Given the description of an element on the screen output the (x, y) to click on. 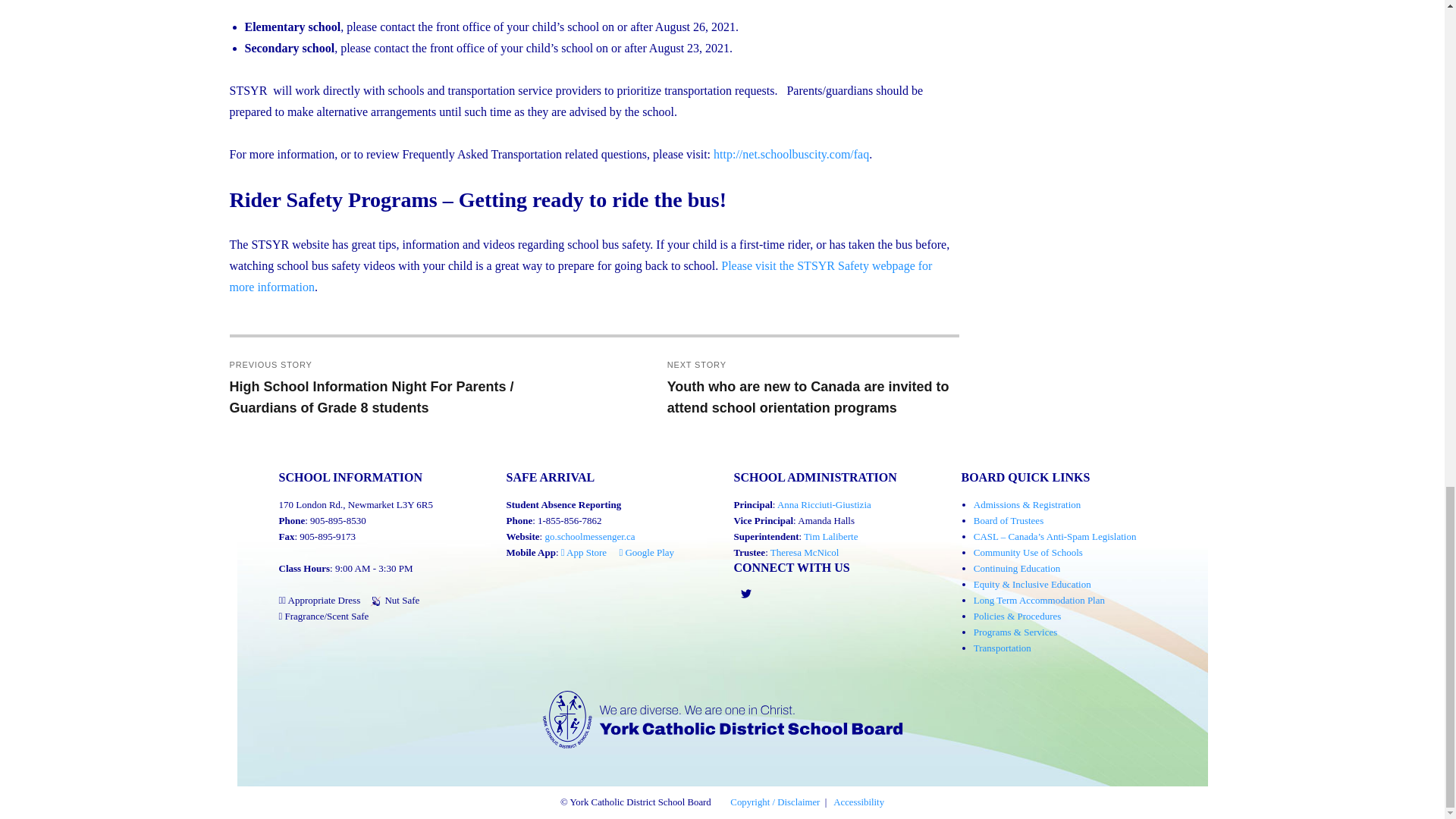
Please visit the STSYR Safety webpage for more information (579, 276)
